Given the description of an element on the screen output the (x, y) to click on. 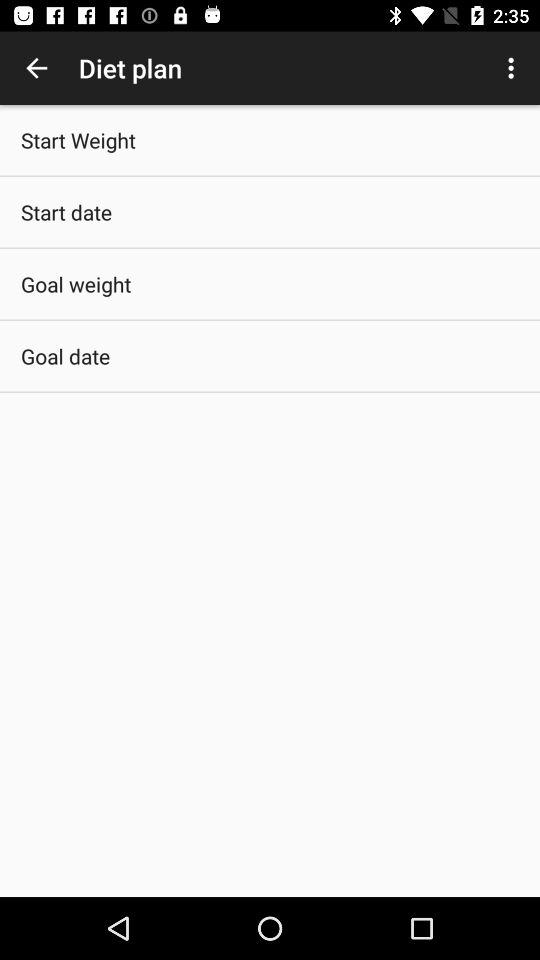
launch goal weight app (76, 284)
